Given the description of an element on the screen output the (x, y) to click on. 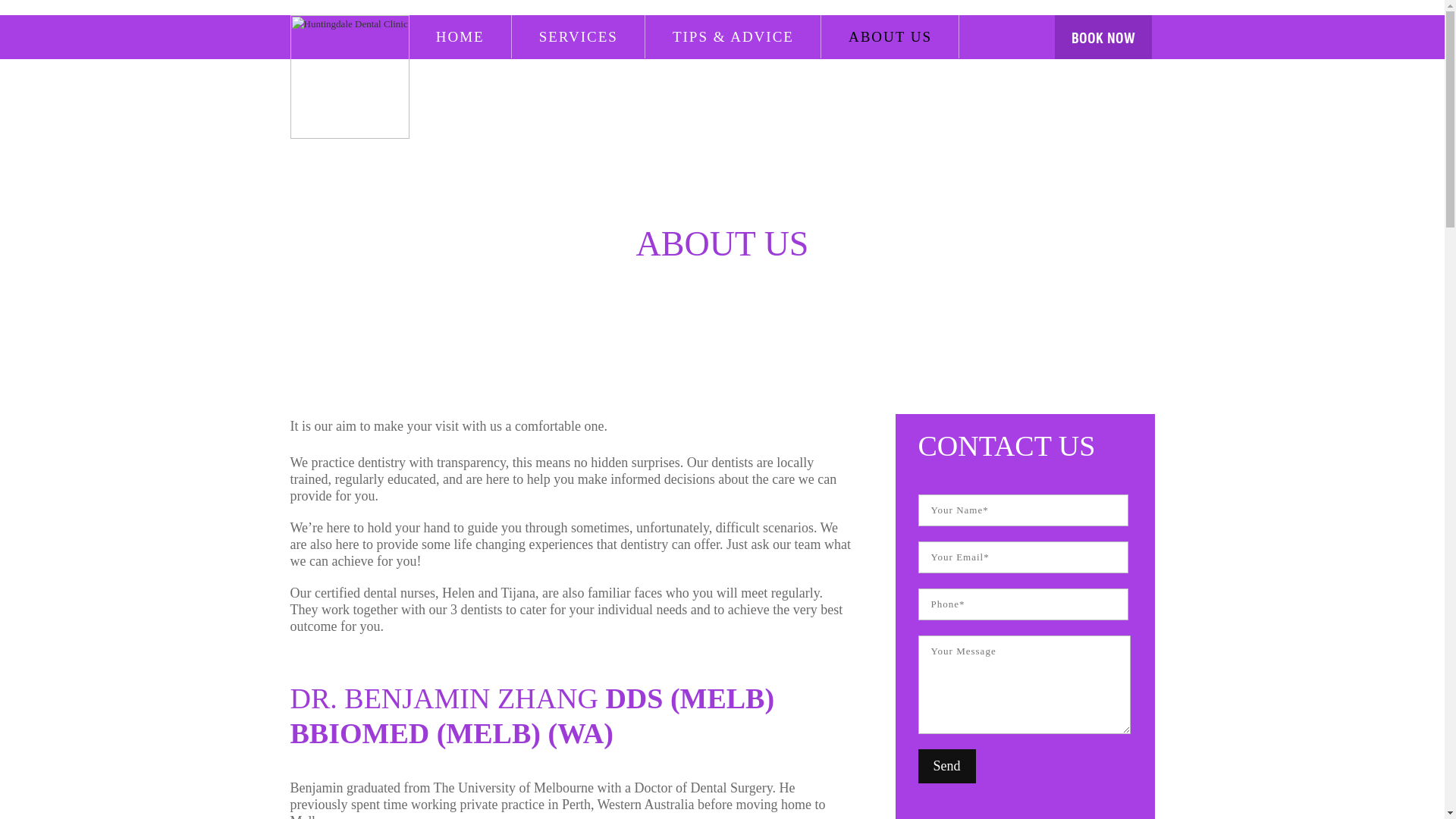
SERVICES Element type: text (578, 36)
ABOUT US Element type: text (890, 36)
CONTACT Element type: text (474, 79)
HOME Element type: text (460, 36)
TIPS & ADVICE Element type: text (733, 36)
Huntingdale Dental Clinic Element type: hover (348, 76)
BOOK NOW Element type: text (1102, 37)
Send Element type: text (946, 766)
(03) 9544 1222 Element type: text (1090, 182)
